Given the description of an element on the screen output the (x, y) to click on. 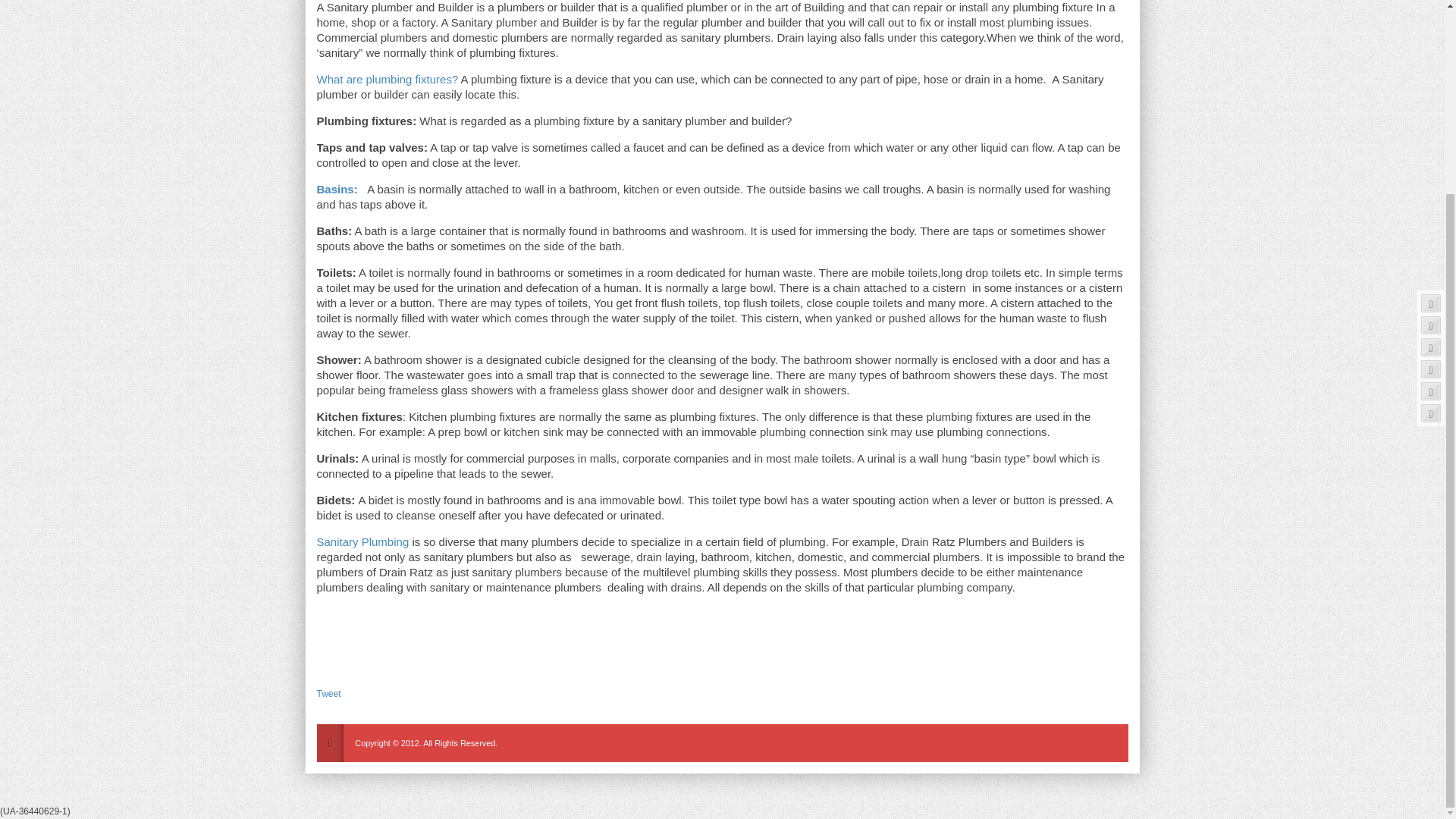
What are plumbing fixtures?  (389, 78)
Basins: (337, 188)
Sanitary Plumbing (363, 541)
